Given the description of an element on the screen output the (x, y) to click on. 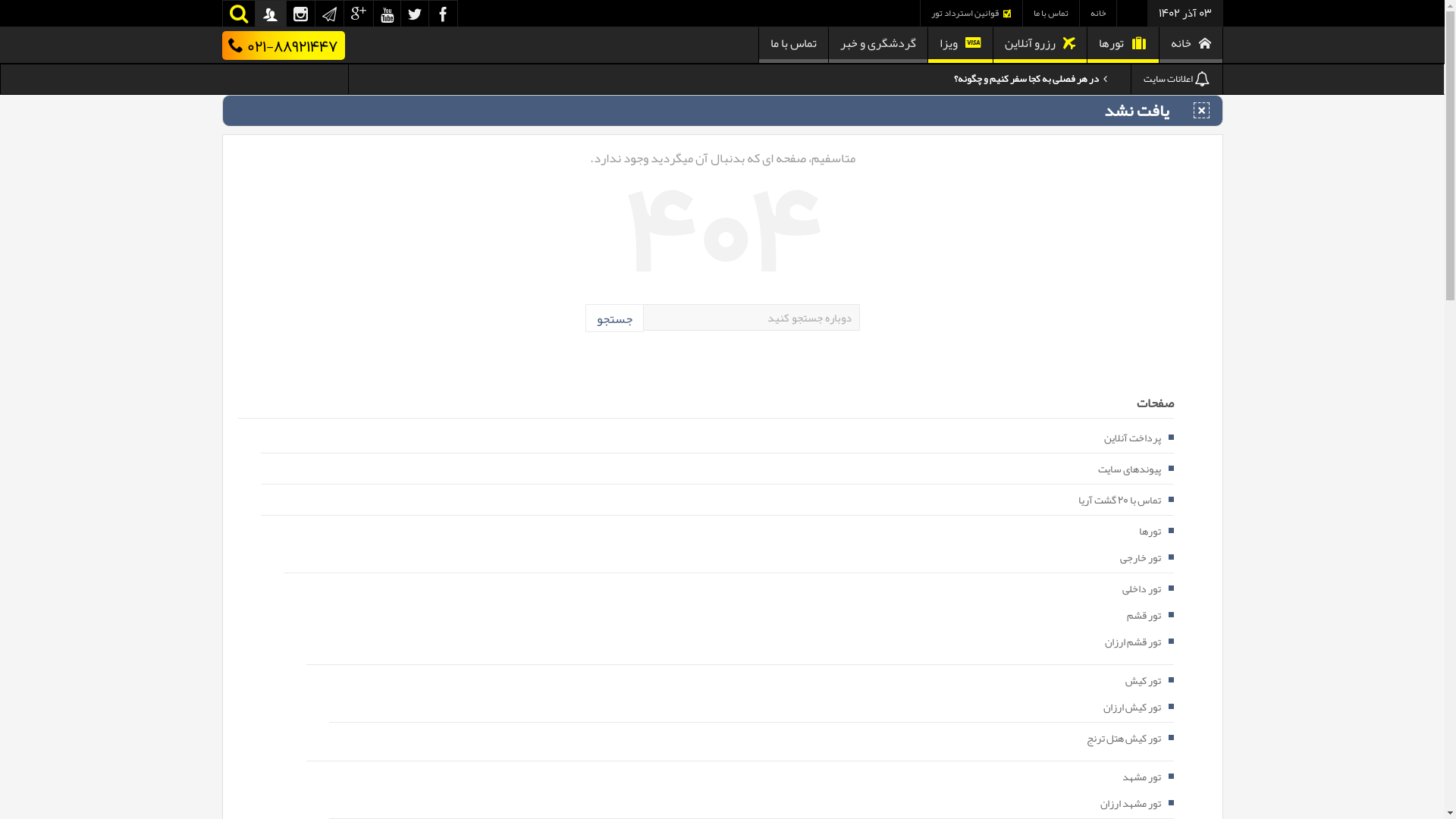
021-88921447 Element type: text (282, 45)
